Given the description of an element on the screen output the (x, y) to click on. 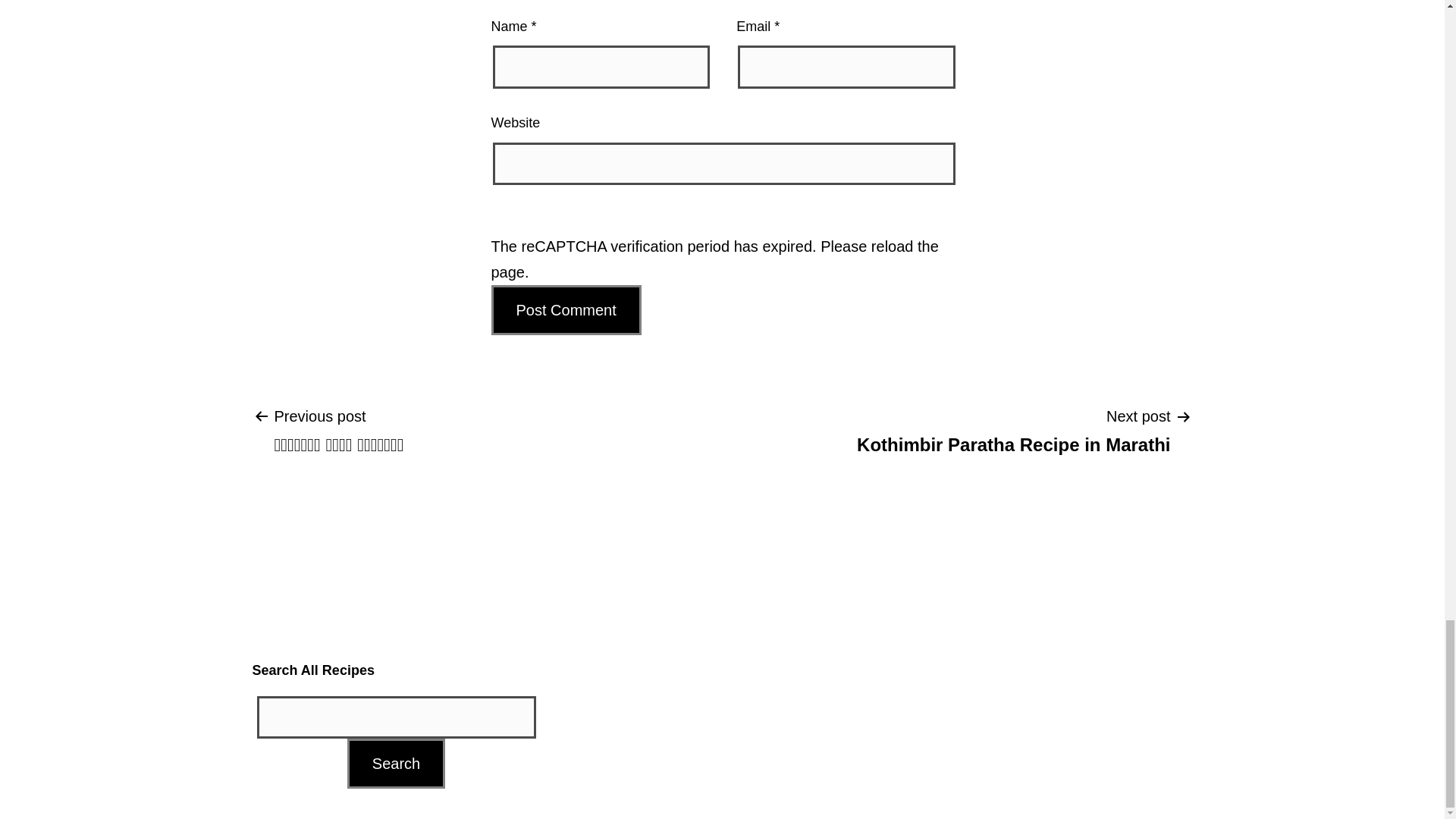
Post Comment (567, 309)
Search (396, 763)
Search (396, 763)
Post Comment (1013, 429)
